Given the description of an element on the screen output the (x, y) to click on. 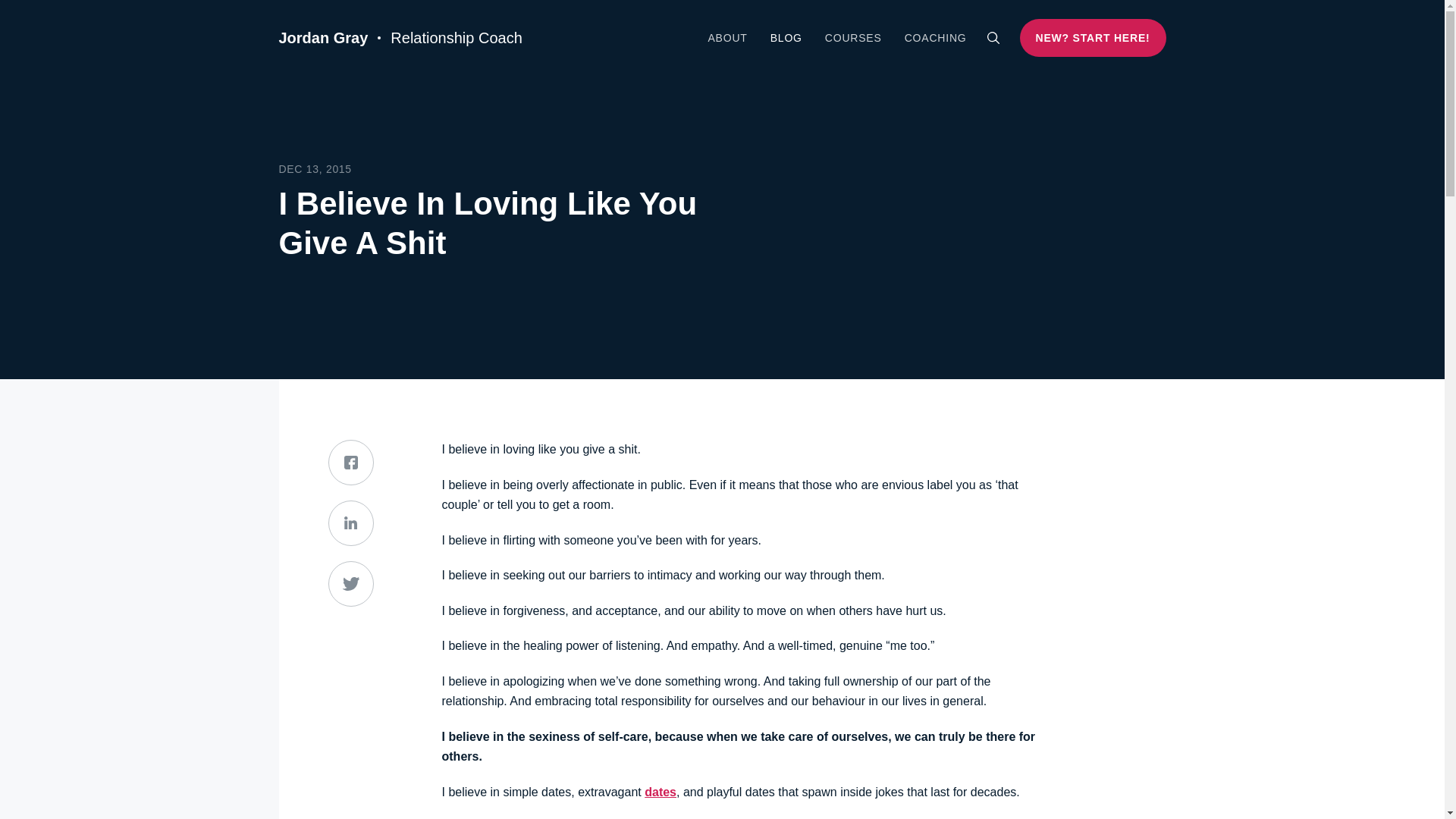
ABOUT (726, 37)
COACHING (935, 37)
BLOG (786, 37)
NEW? START HERE! (1093, 37)
dates (661, 791)
COURSES (853, 37)
